Given the description of an element on the screen output the (x, y) to click on. 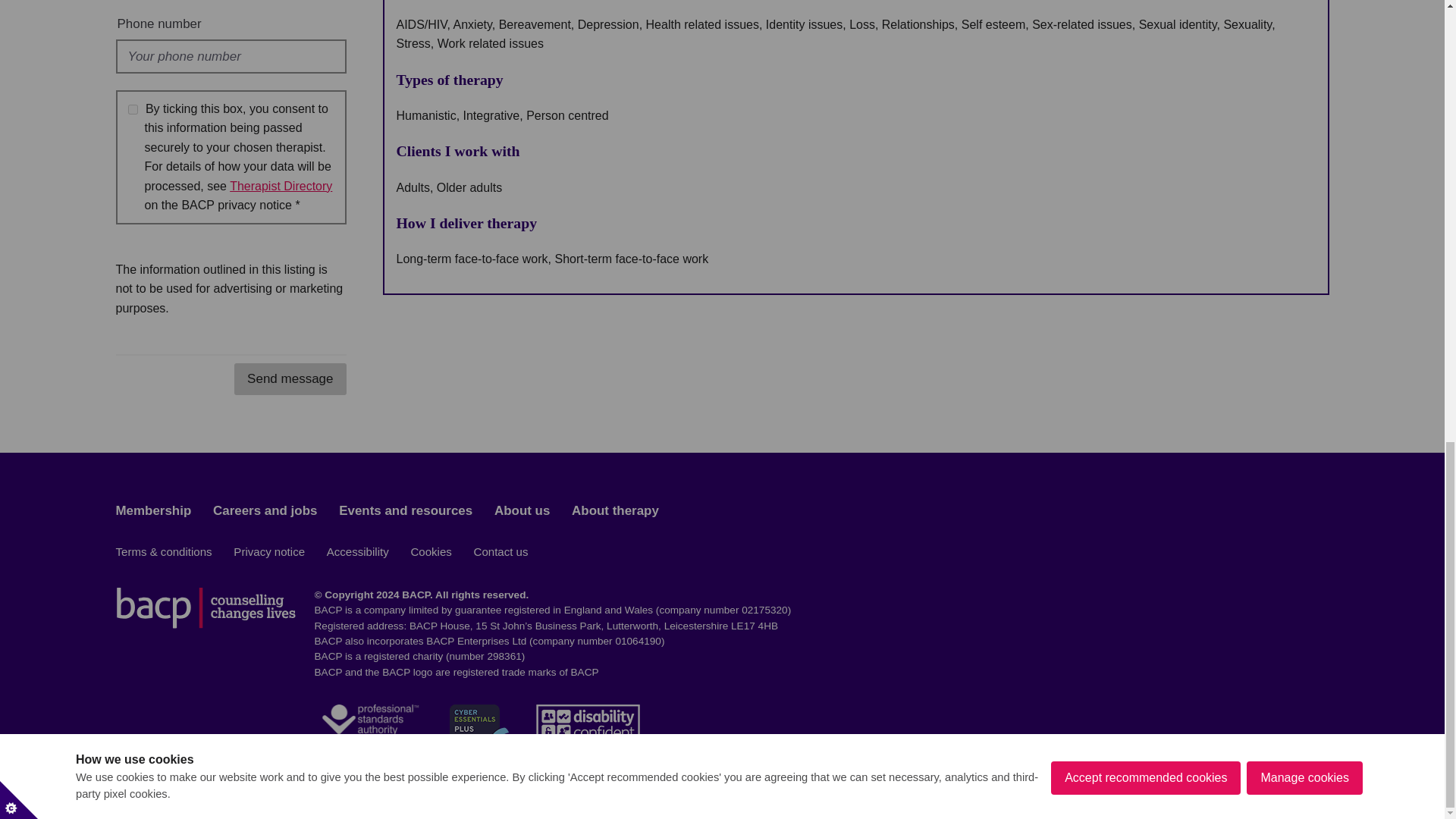
true (132, 109)
Privacy (280, 185)
